Given the description of an element on the screen output the (x, y) to click on. 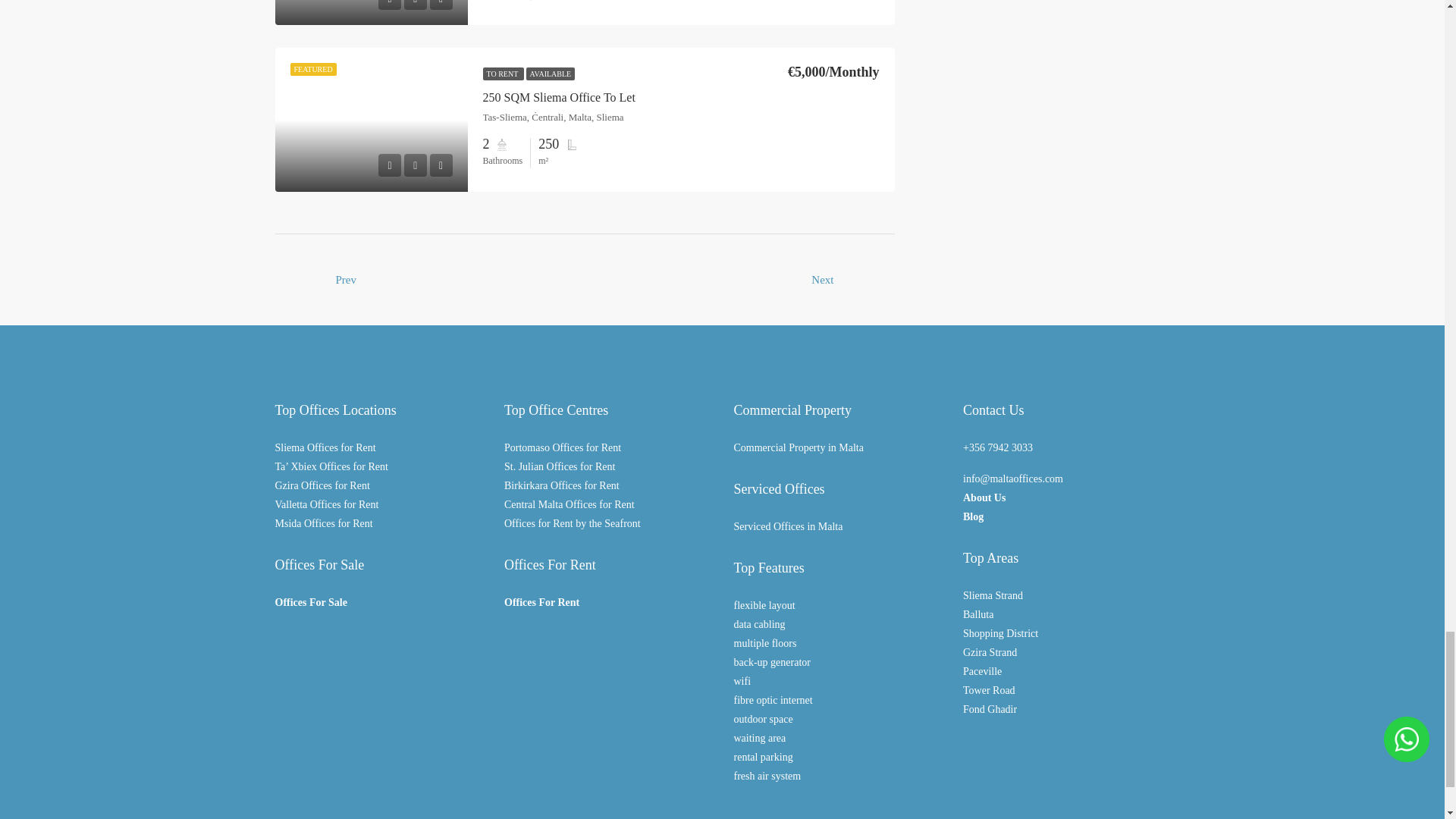
Preview (389, 164)
Add to Compare (440, 164)
Favourite (415, 4)
Preview (389, 4)
Favourite (415, 164)
Add to Compare (440, 4)
